Given the description of an element on the screen output the (x, y) to click on. 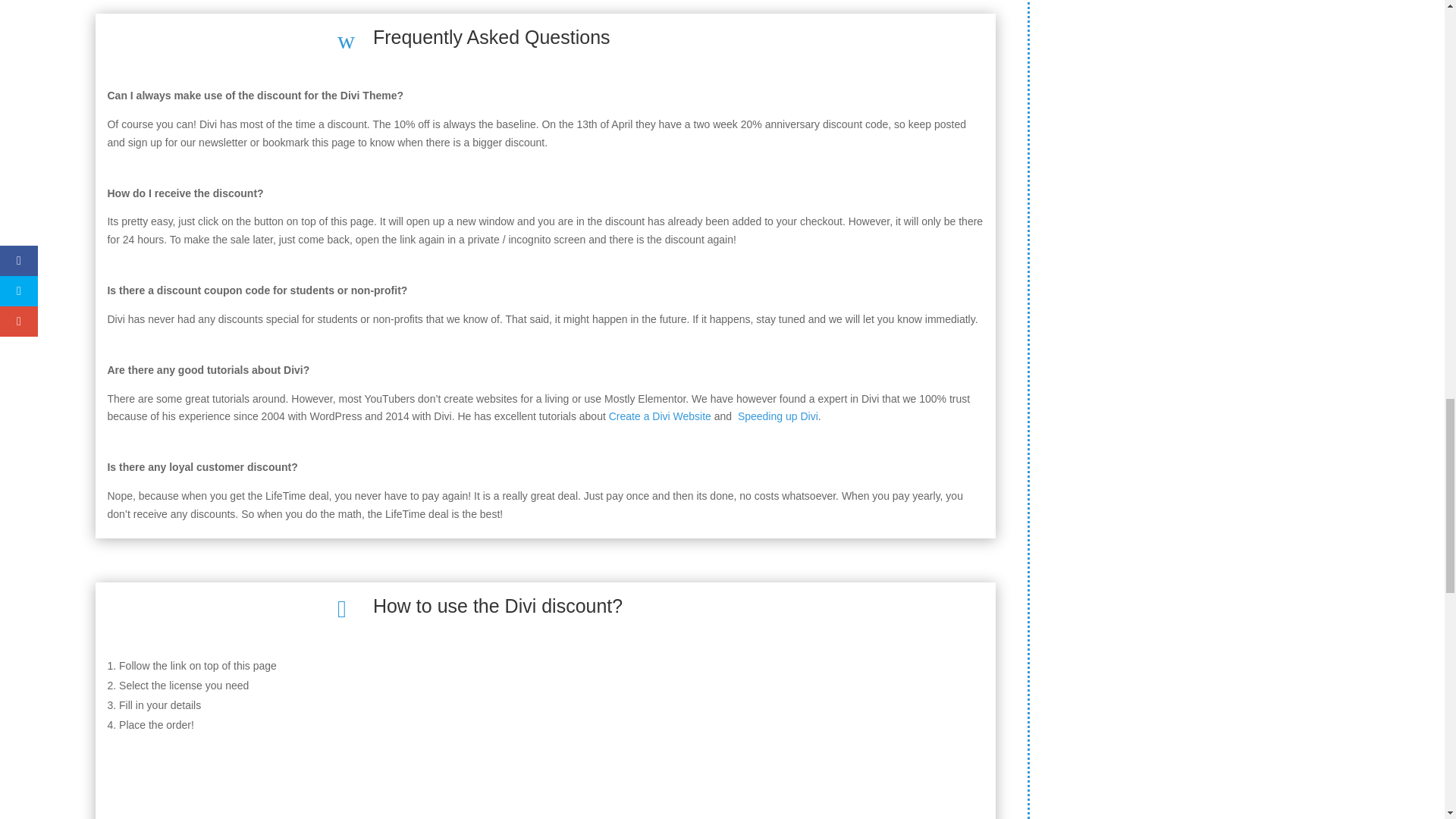
WP Rocket Discount - Where to add the coupon code (545, 798)
Create a Divi Website (659, 416)
Speeding up Divi (778, 416)
